Given the description of an element on the screen output the (x, y) to click on. 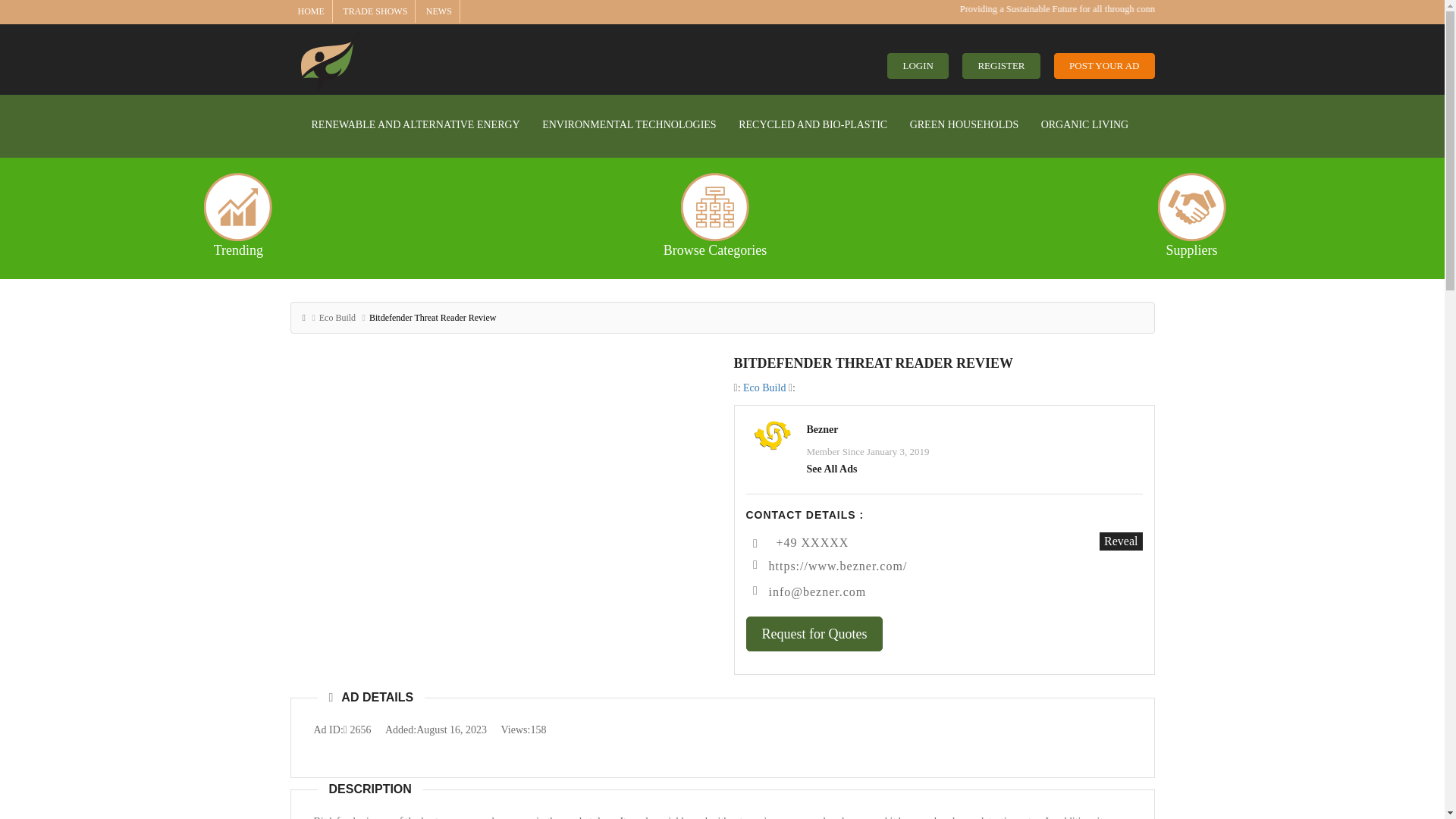
REGISTER (1000, 66)
Green Households (964, 124)
Recycled and BIO-Plastic (812, 124)
Environmental Technologies (628, 124)
NEWS (438, 10)
POST YOUR AD (1104, 66)
HOME (310, 10)
View all posts in Eco Build (764, 387)
TRADE SHOWS (374, 10)
LOGIN (916, 66)
Organic Living (1084, 124)
Renewable and Alternative Energy (415, 124)
